Given the description of an element on the screen output the (x, y) to click on. 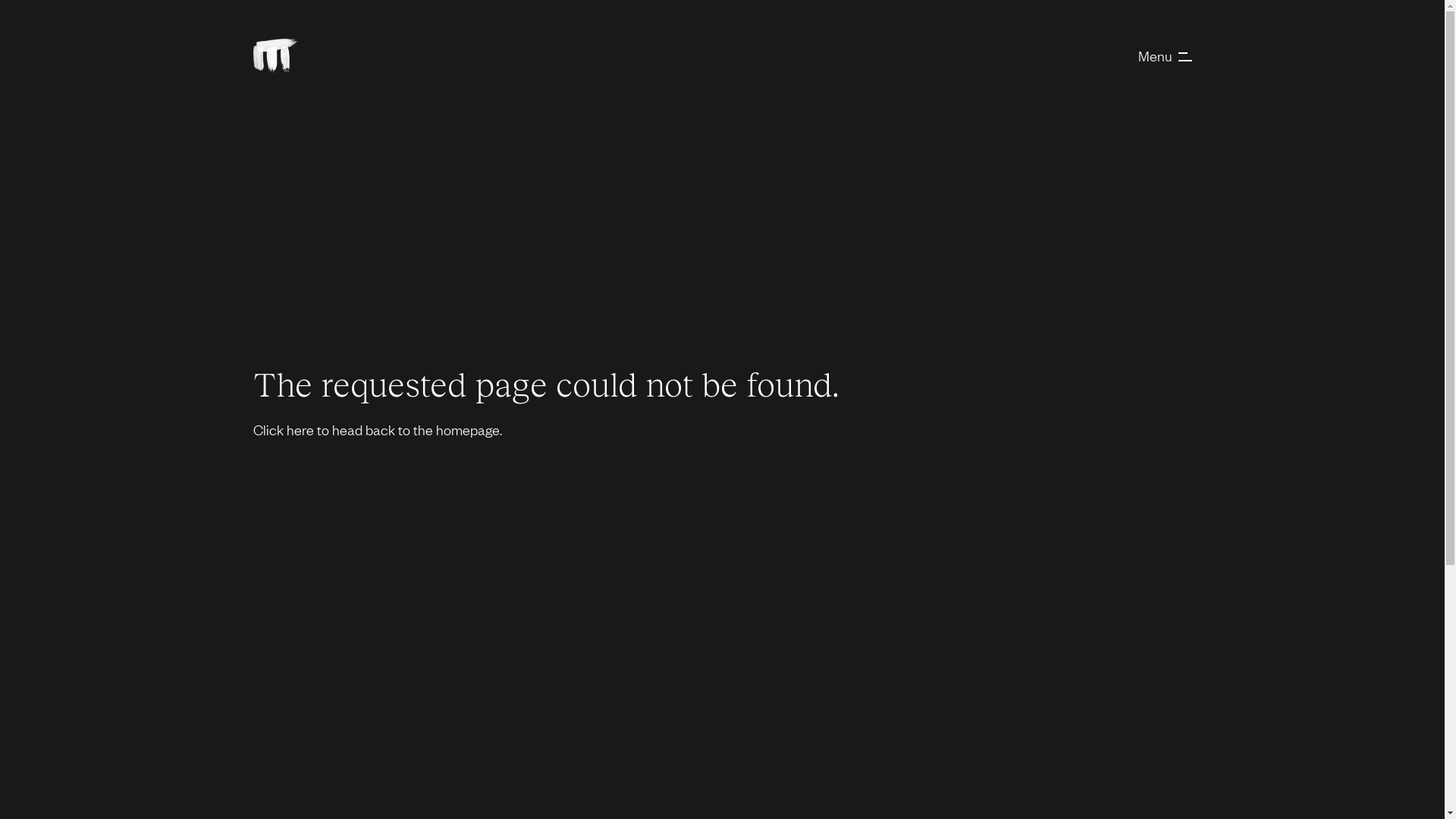
Click here Element type: text (283, 429)
Menu Element type: text (1164, 54)
Martins Brand House Element type: text (275, 54)
